Given the description of an element on the screen output the (x, y) to click on. 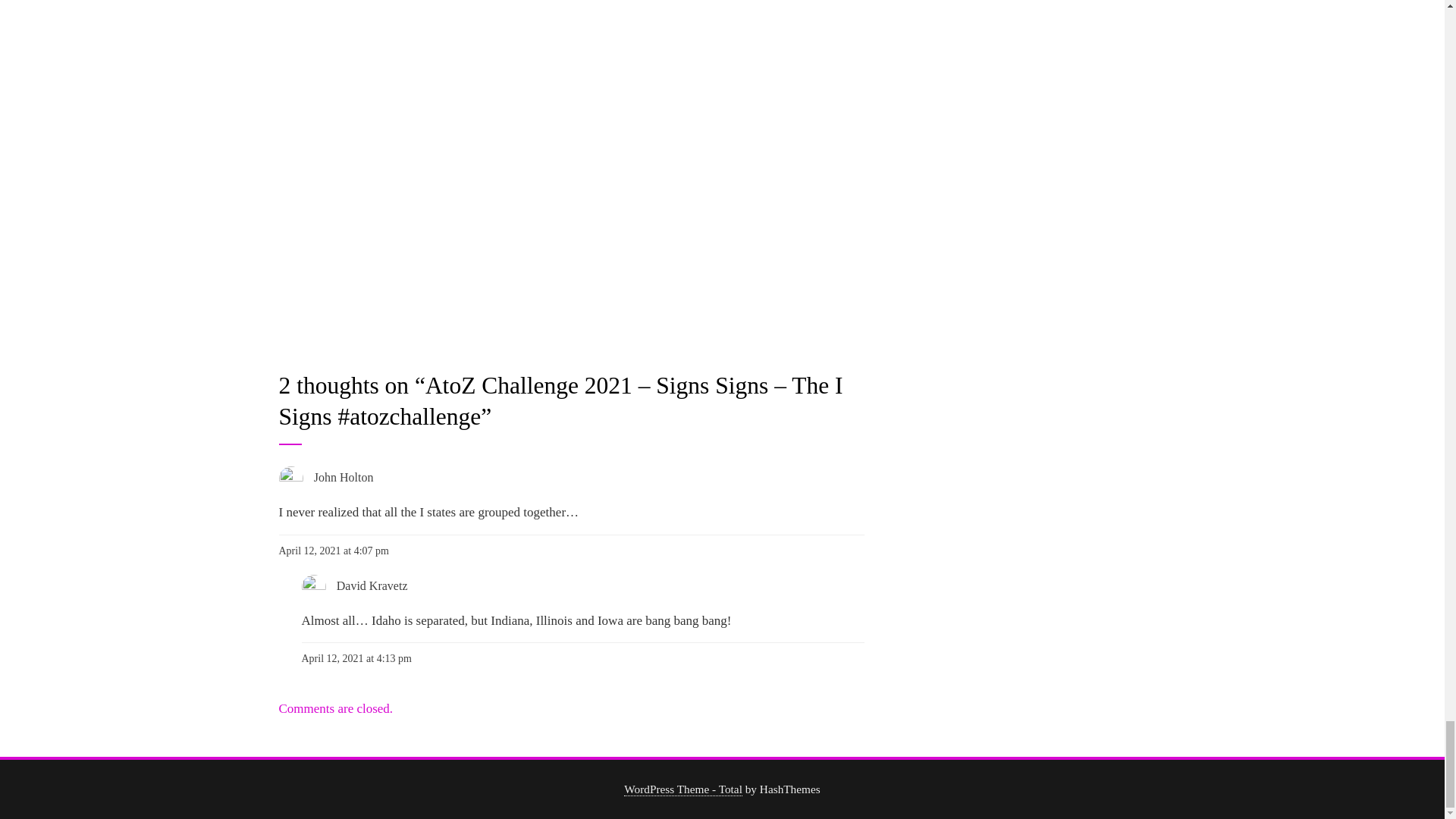
John Holton (344, 477)
April 12, 2021 at 4:13 pm (356, 658)
David Kravetz (371, 585)
WordPress Theme - Total (683, 789)
April 12, 2021 at 4:07 pm (333, 550)
